Given the description of an element on the screen output the (x, y) to click on. 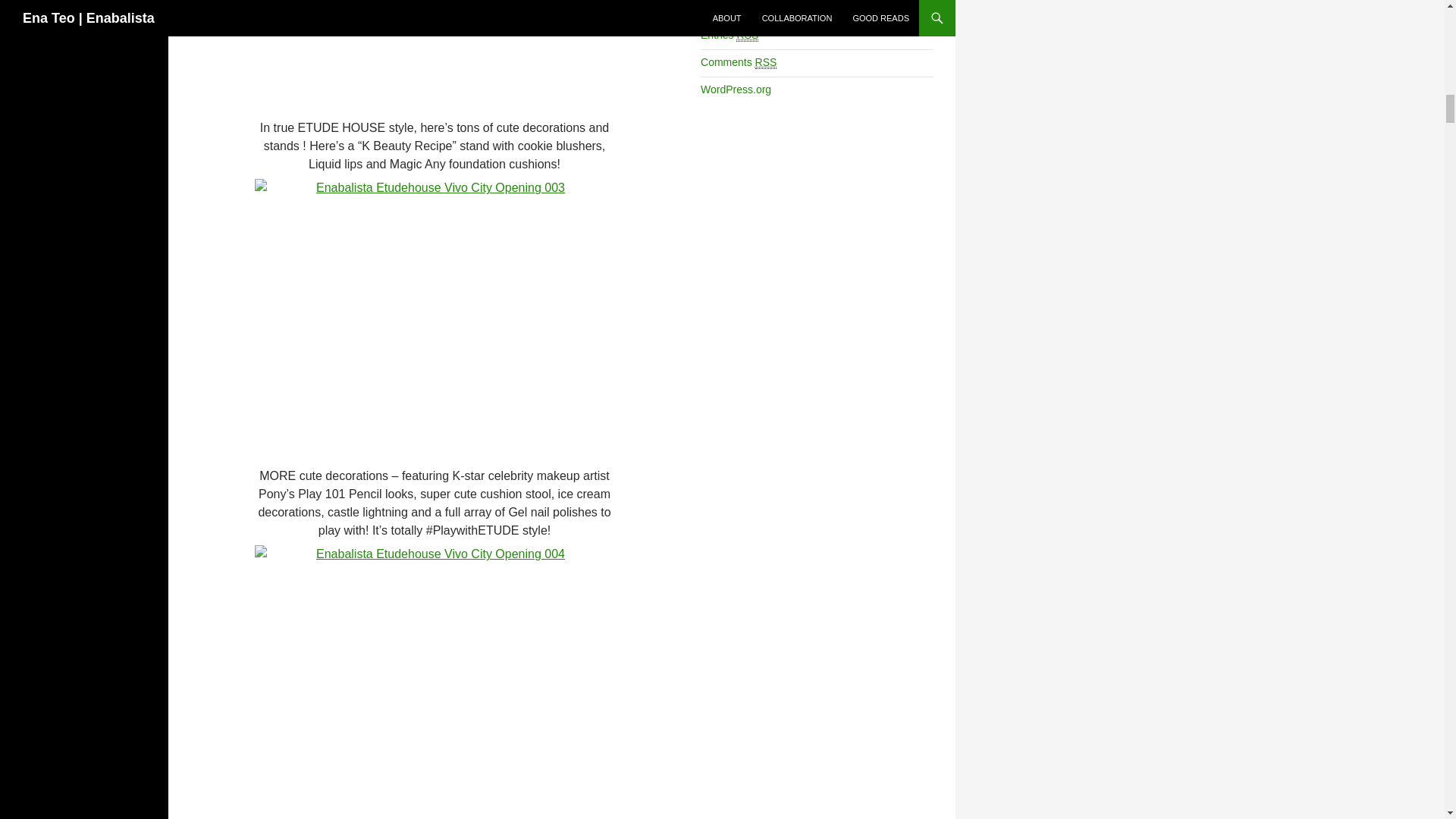
Really Simple Syndication (766, 62)
Really Simple Syndication (747, 34)
